Given the description of an element on the screen output the (x, y) to click on. 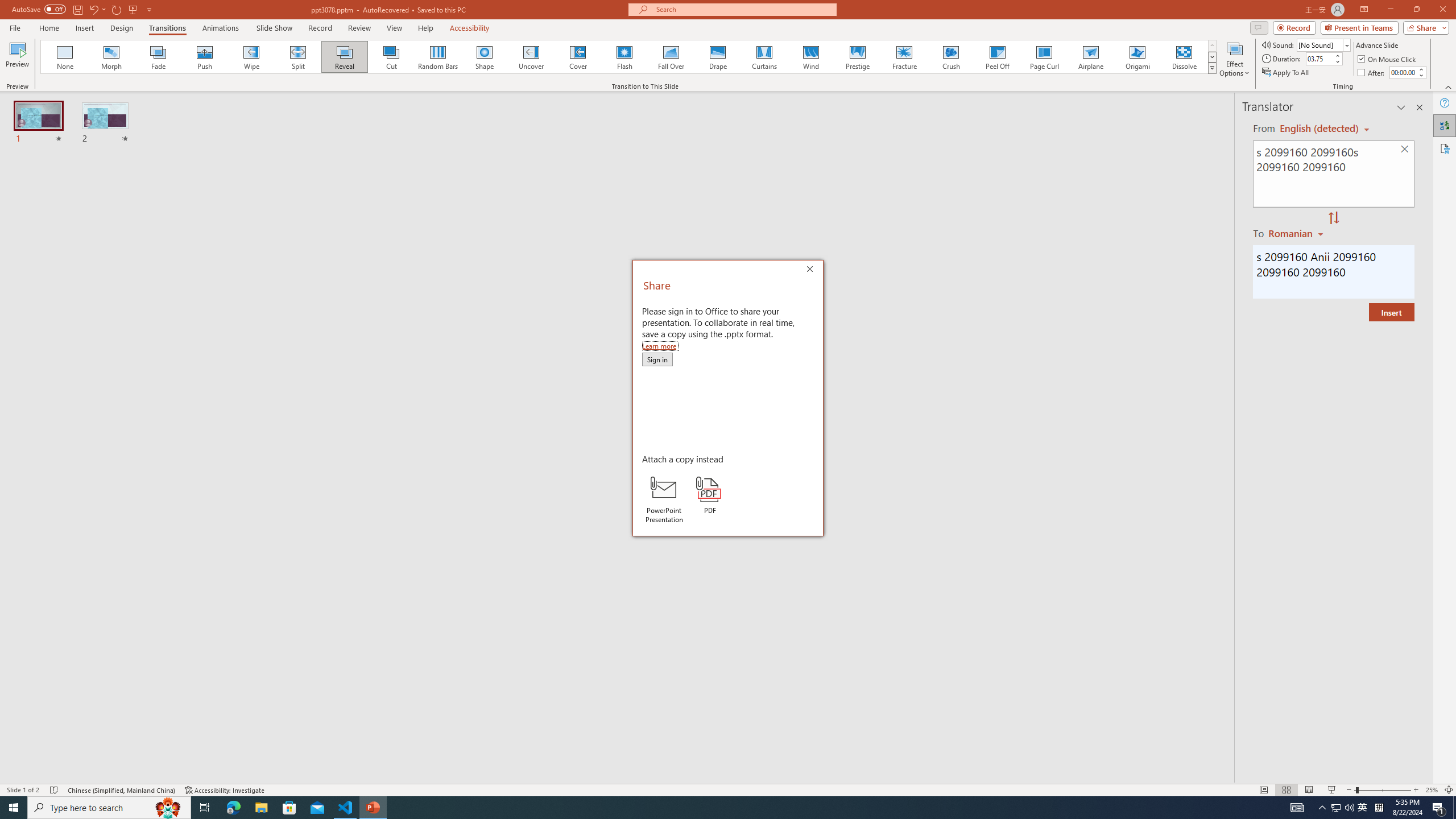
Reveal (344, 56)
Page Curl (1043, 56)
Learn more (660, 345)
